Given the description of an element on the screen output the (x, y) to click on. 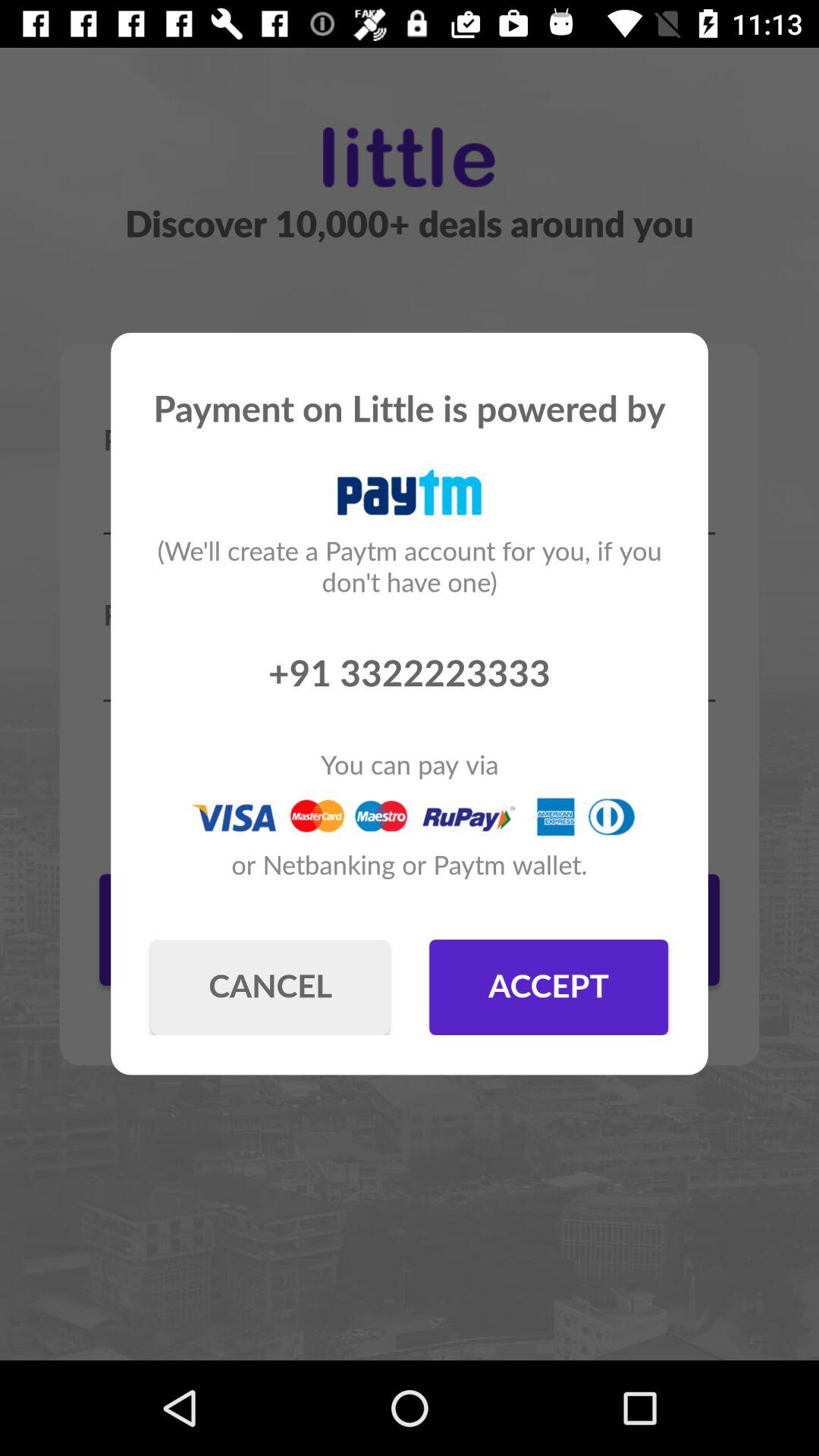
flip to the accept item (548, 987)
